Given the description of an element on the screen output the (x, y) to click on. 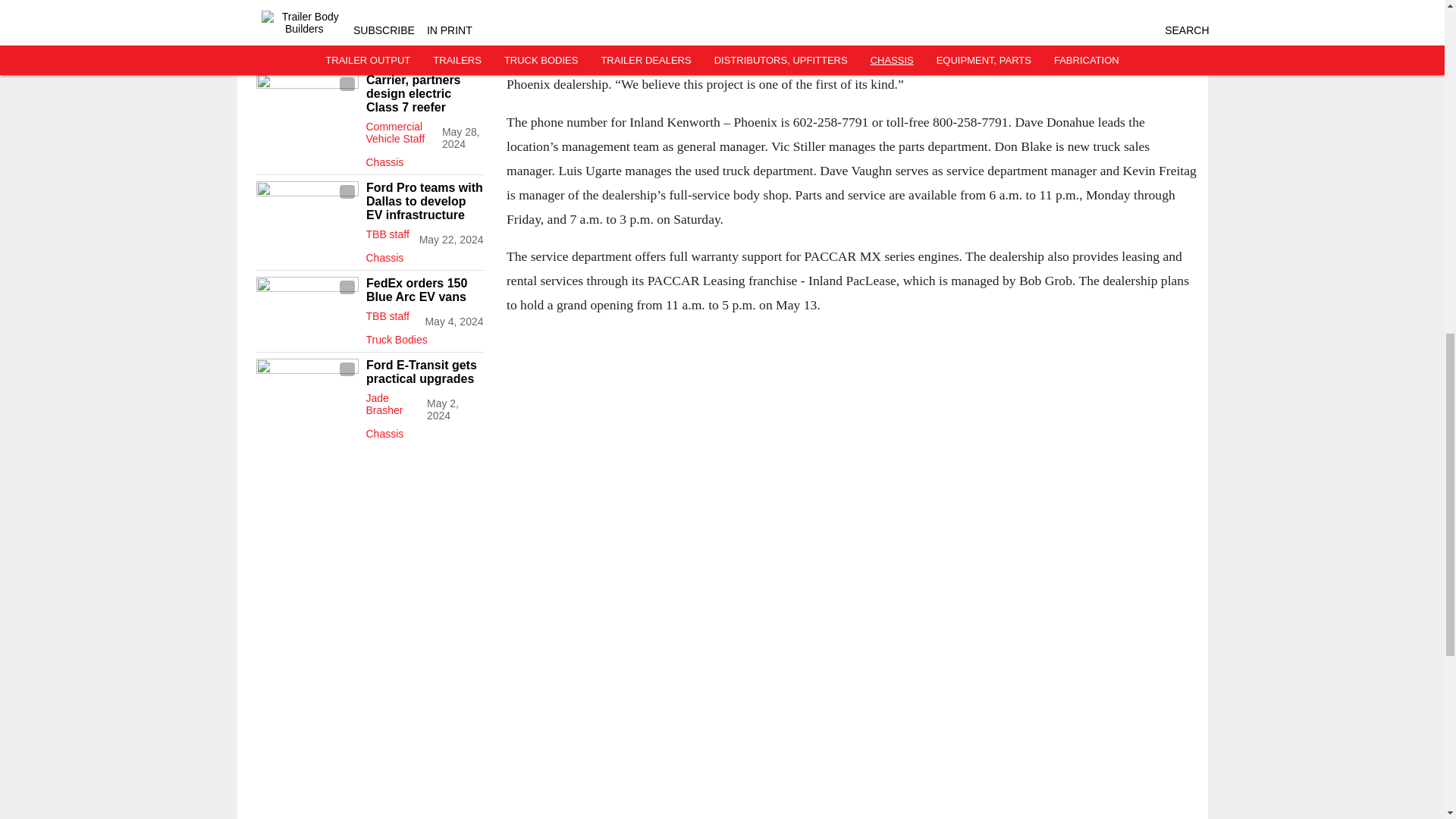
Chassis (424, 254)
Chassis (424, 51)
TBB staff (387, 234)
GreenPower unveils all-electric ReeferX (424, 9)
Carrier, partners design electric Class 7 reefer (424, 93)
Ford Pro teams with Dallas to develop EV infrastructure (424, 200)
Chassis (424, 158)
Commercial Vehicle Staff (395, 132)
